Given the description of an element on the screen output the (x, y) to click on. 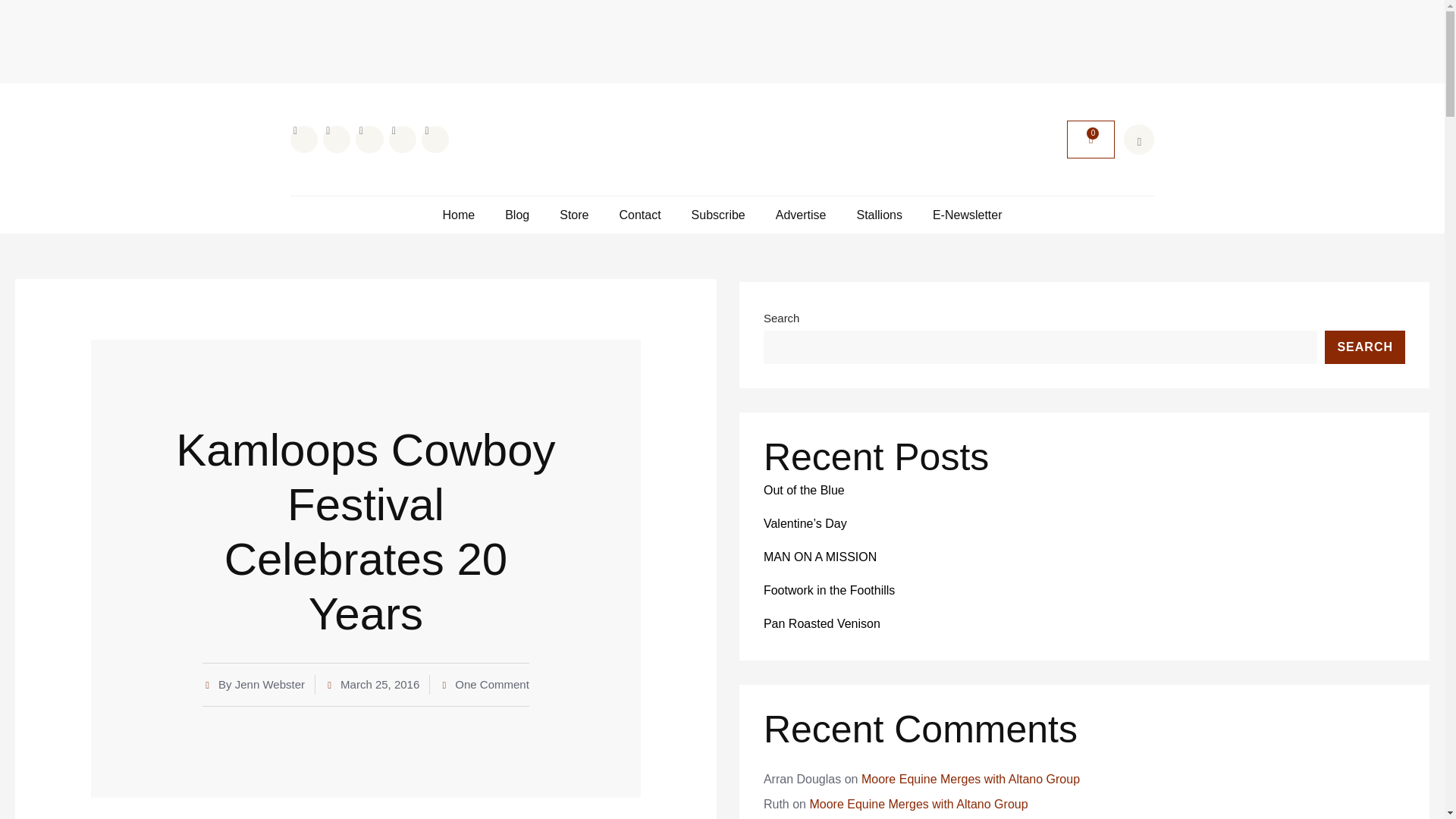
Stallions (878, 214)
Store (573, 214)
Contact (639, 214)
March 25, 2016 (371, 684)
E-Newsletter (968, 214)
Subscribe (718, 214)
By Jenn Webster (253, 684)
Advertise (801, 214)
0 (1091, 139)
One Comment (484, 684)
